Given the description of an element on the screen output the (x, y) to click on. 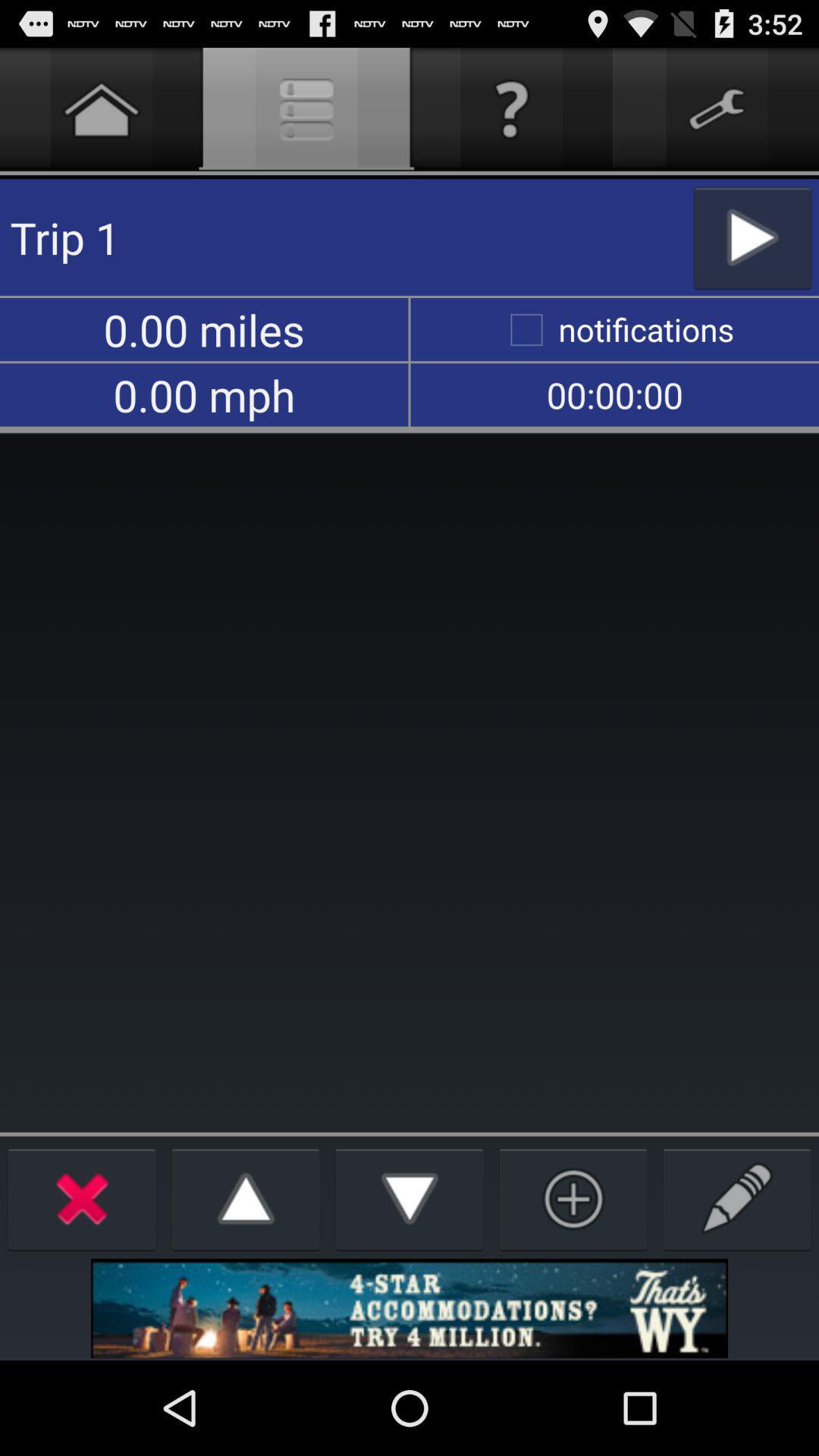
up button (245, 1198)
